Given the description of an element on the screen output the (x, y) to click on. 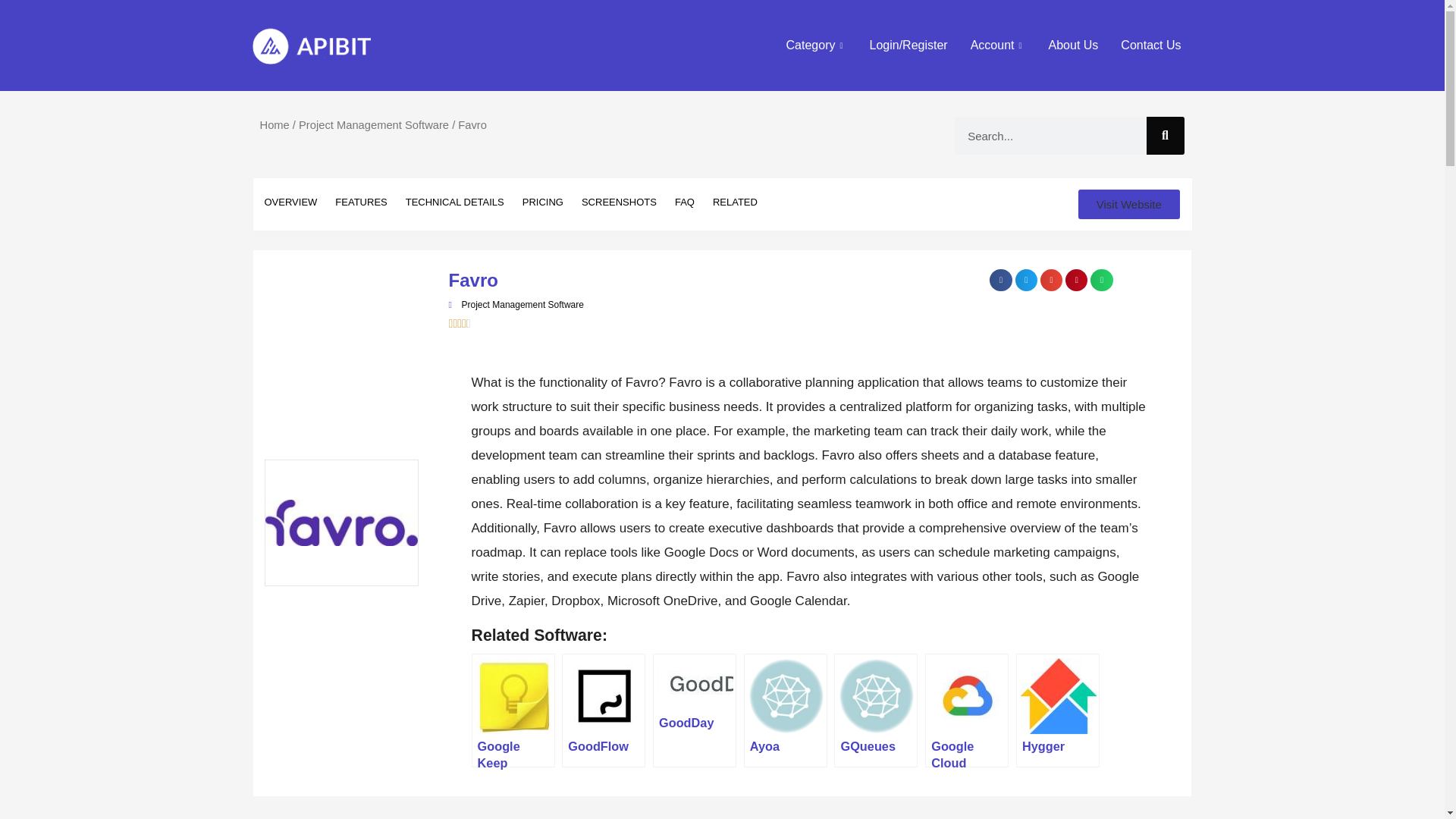
GoodDay 8 (695, 684)
Google Keep 6 (513, 695)
GoodFlow 7 (604, 695)
Category (816, 45)
Google Cloud Debugger 9 (968, 695)
Hygger 10 (1058, 695)
Account (997, 45)
